Given the description of an element on the screen output the (x, y) to click on. 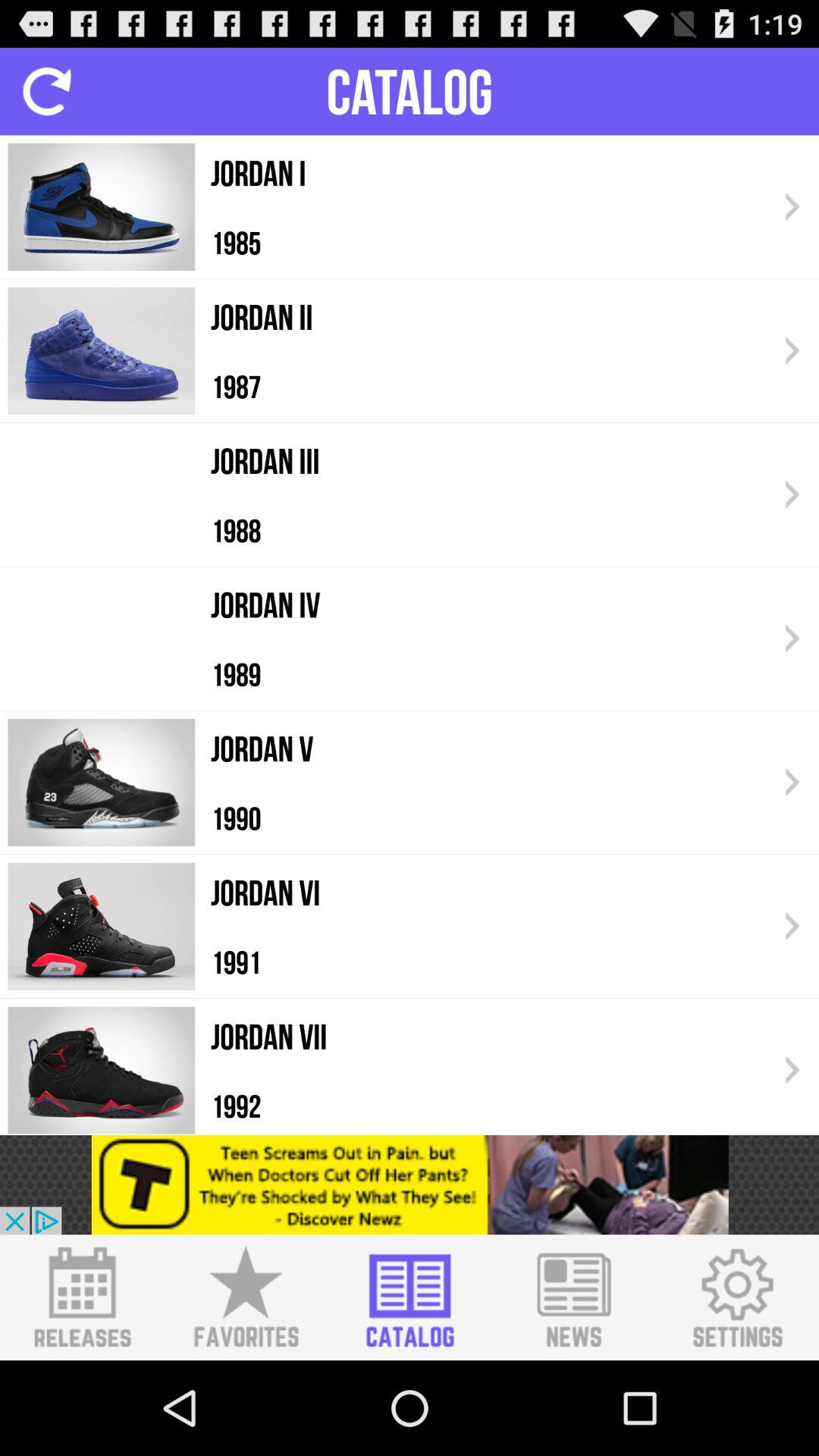
view the favorites (245, 1297)
